Given the description of an element on the screen output the (x, y) to click on. 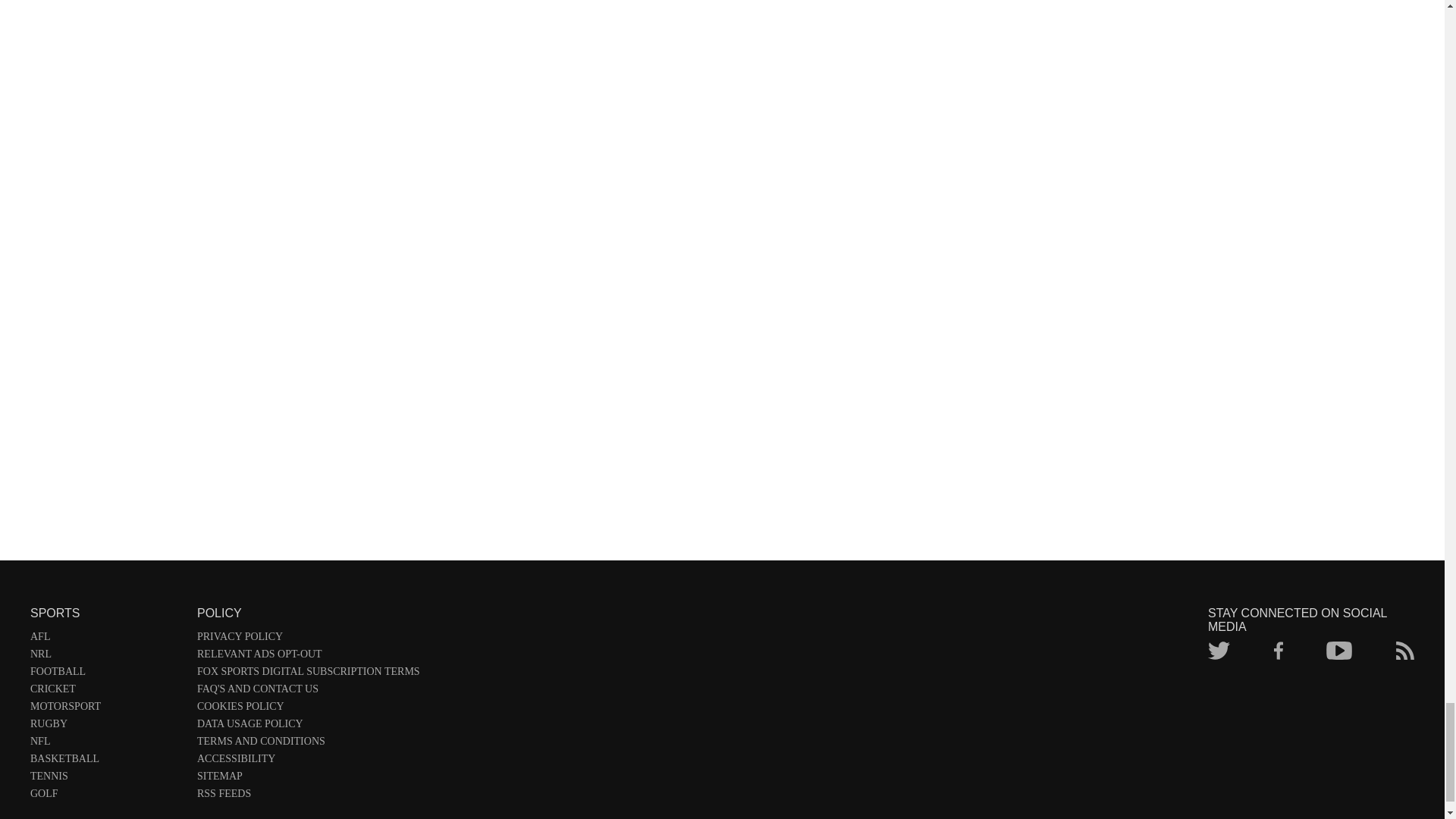
CRICKET (106, 692)
FOOTBALL (106, 674)
NRL (106, 656)
AFL (106, 639)
